Given the description of an element on the screen output the (x, y) to click on. 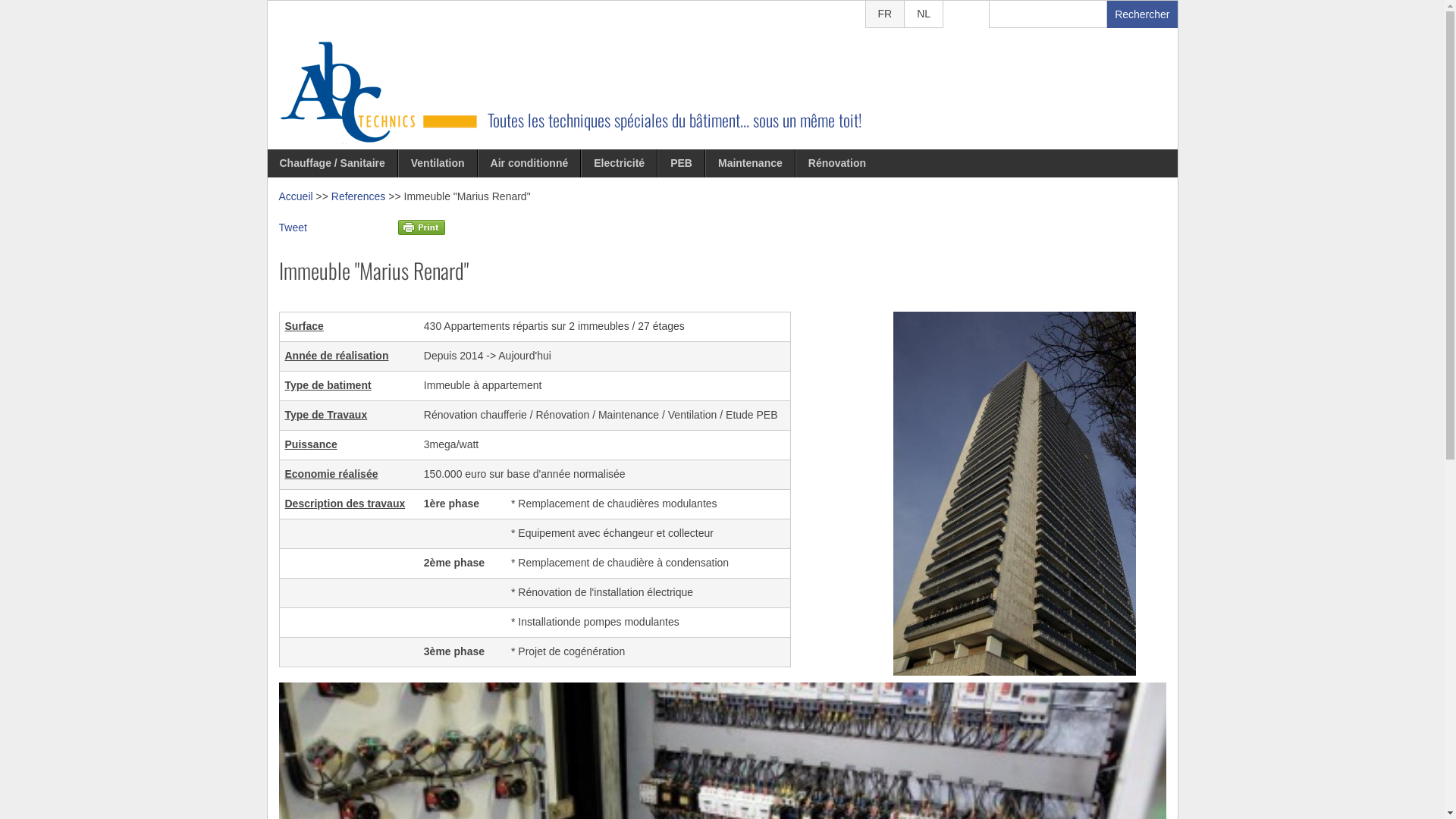
Aller au contenu principal Element type: text (658, 0)
NL Element type: text (923, 13)
PEB Element type: text (681, 163)
ABC Technics Element type: text (287, 295)
Rechercher Element type: text (1141, 14)
Ventilation Element type: text (437, 163)
Chauffage / Sanitaire Element type: text (331, 163)
Printer Friendly and PDF Element type: hover (421, 231)
Tweet Element type: text (293, 227)
Page d'accueil Element type: hover (372, 140)
Accueil Element type: text (296, 196)
References Element type: text (358, 196)
FR Element type: text (885, 13)
Maintenance Element type: text (750, 163)
